Given the description of an element on the screen output the (x, y) to click on. 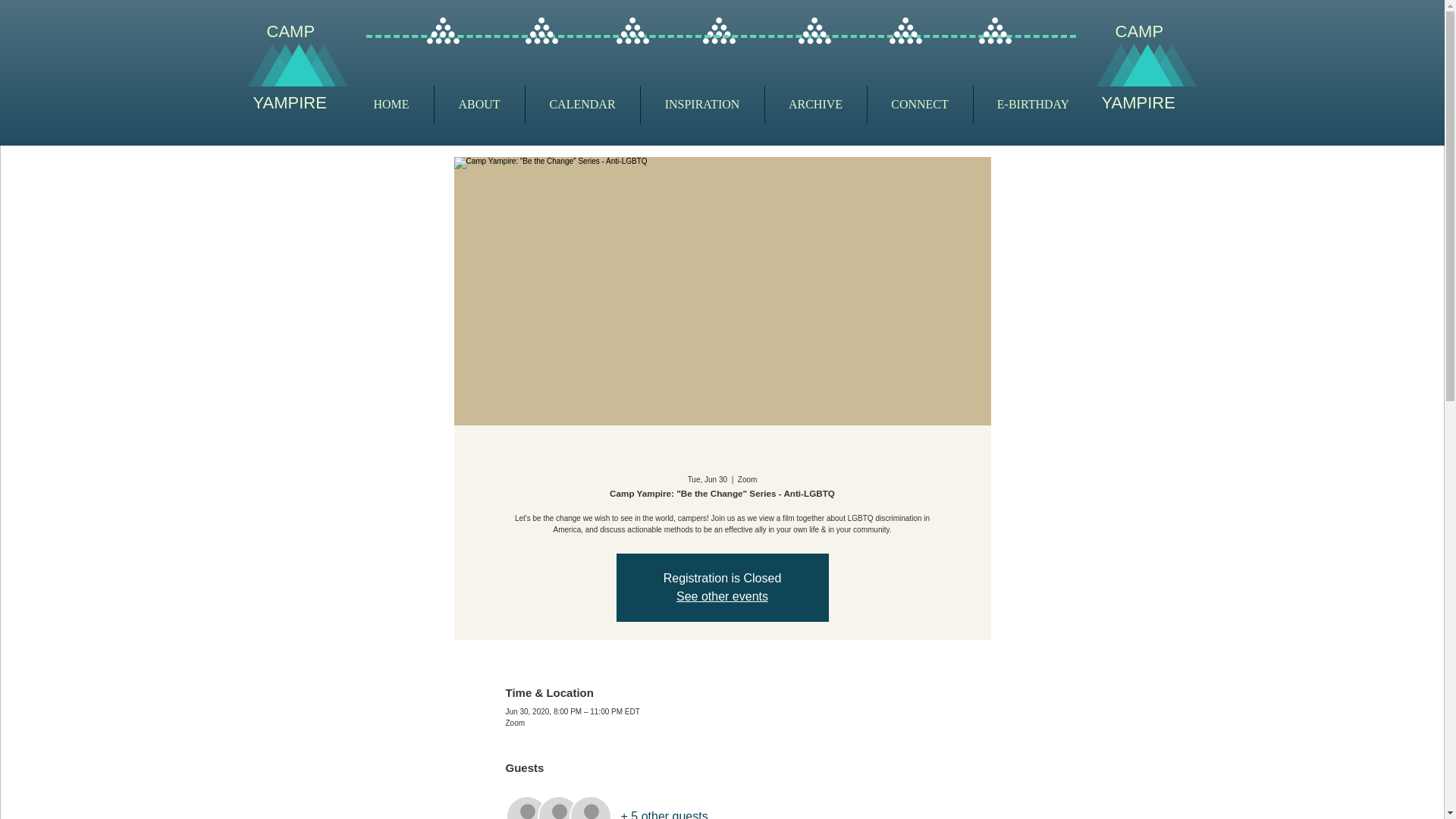
ARCHIVE (815, 104)
ABOUT (478, 104)
HOME (390, 104)
CALENDAR (582, 104)
INSPIRATION (702, 104)
